Given the description of an element on the screen output the (x, y) to click on. 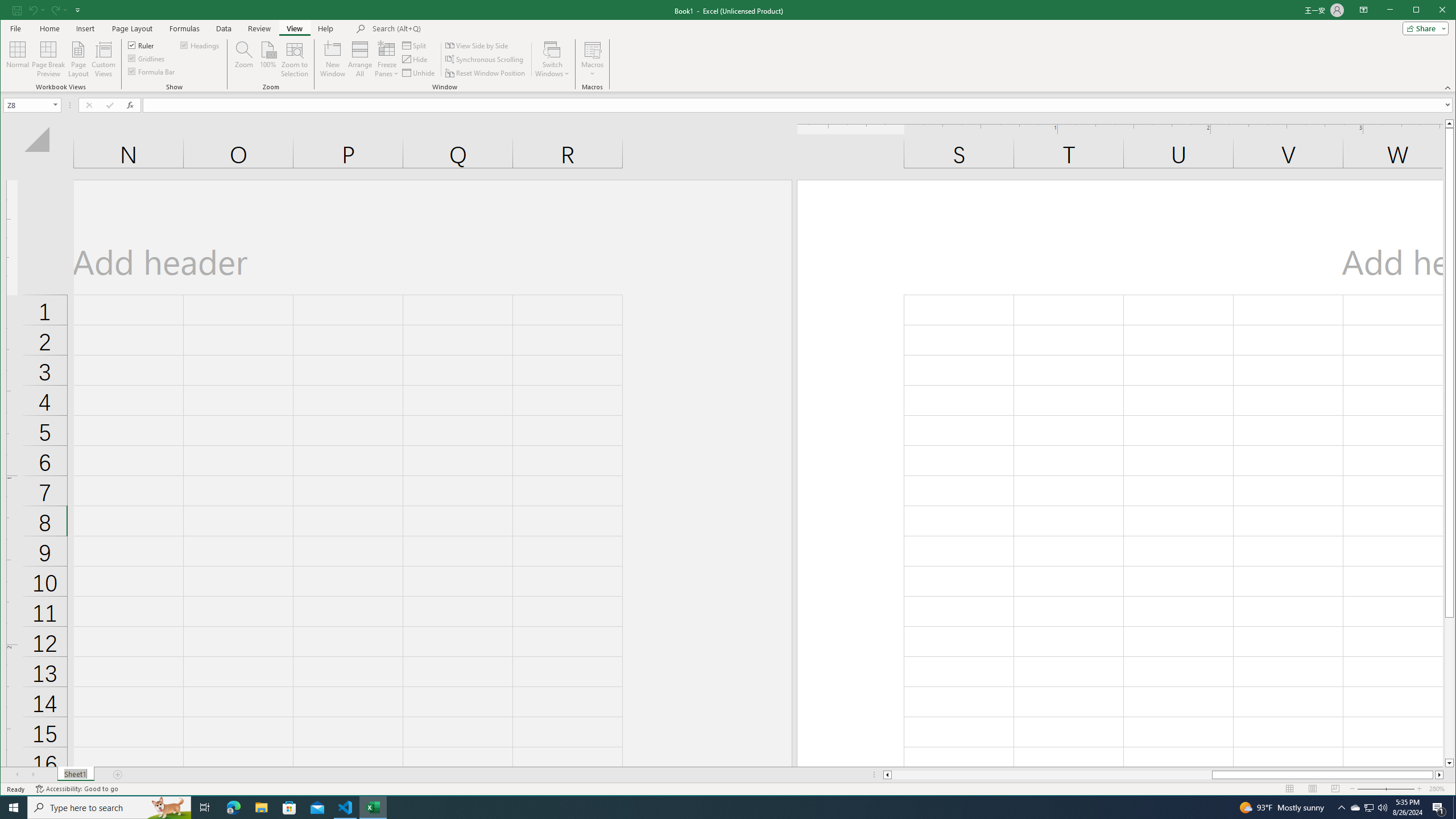
Page down (1449, 687)
